Given the description of an element on the screen output the (x, y) to click on. 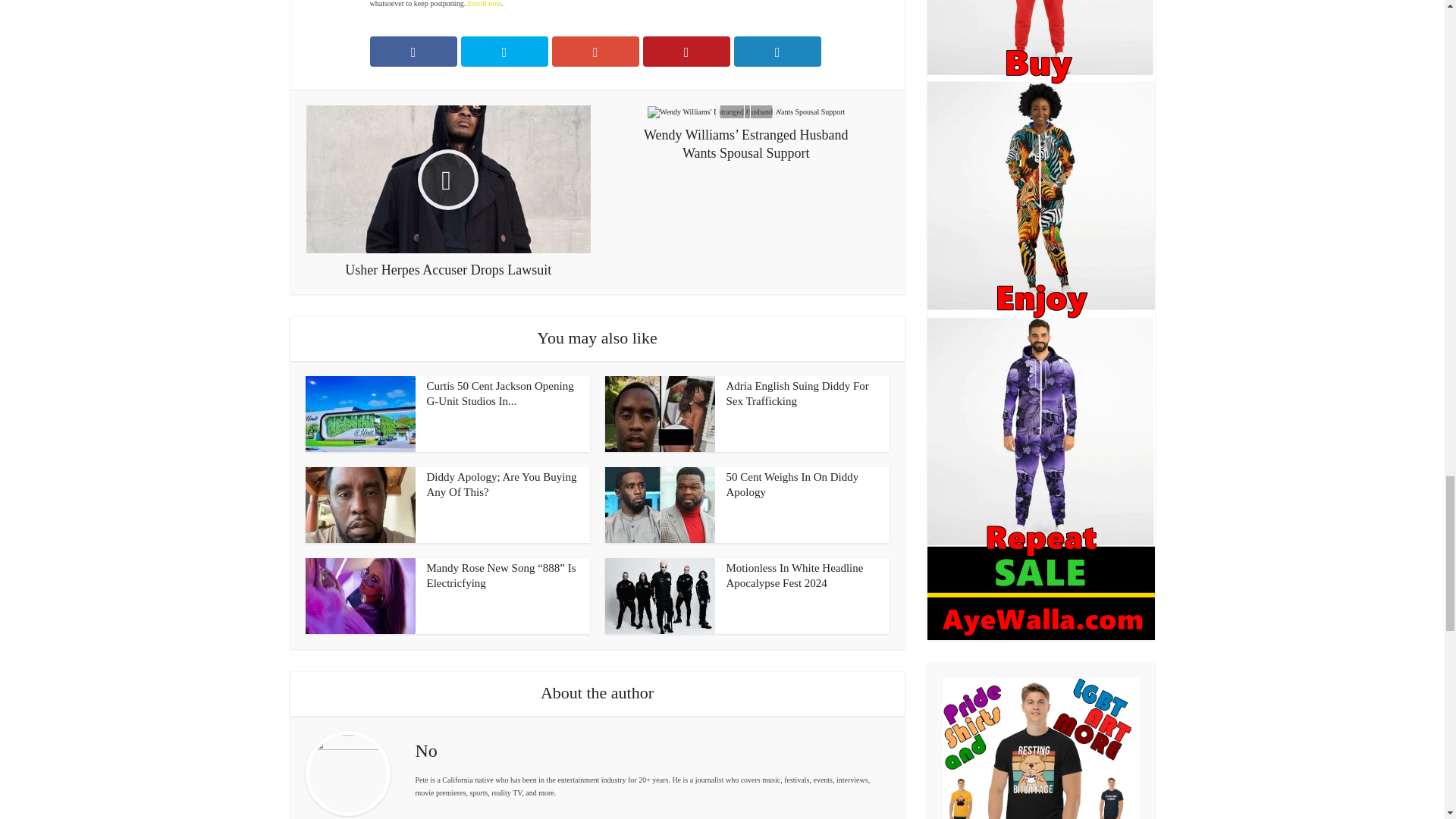
50 Cent Weighs In On Diddy Apology (792, 483)
Motionless In White Headline Apocalypse Fest 2024 (794, 574)
Curtis 50 Cent Jackson Opening G-Unit Studios In... (499, 393)
Enroll now (483, 3)
Diddy Apology; Are You Buying Any Of This? (501, 483)
Motionless In White Headline Apocalypse Fest 2024 (794, 574)
Diddy Apology; Are You Buying Any Of This? (501, 483)
Usher Herpes Accuser Drops Lawsuit (448, 192)
50 Cent Weighs In On Diddy Apology (792, 483)
Adria English Suing Diddy For Sex Trafficking (797, 393)
